Given the description of an element on the screen output the (x, y) to click on. 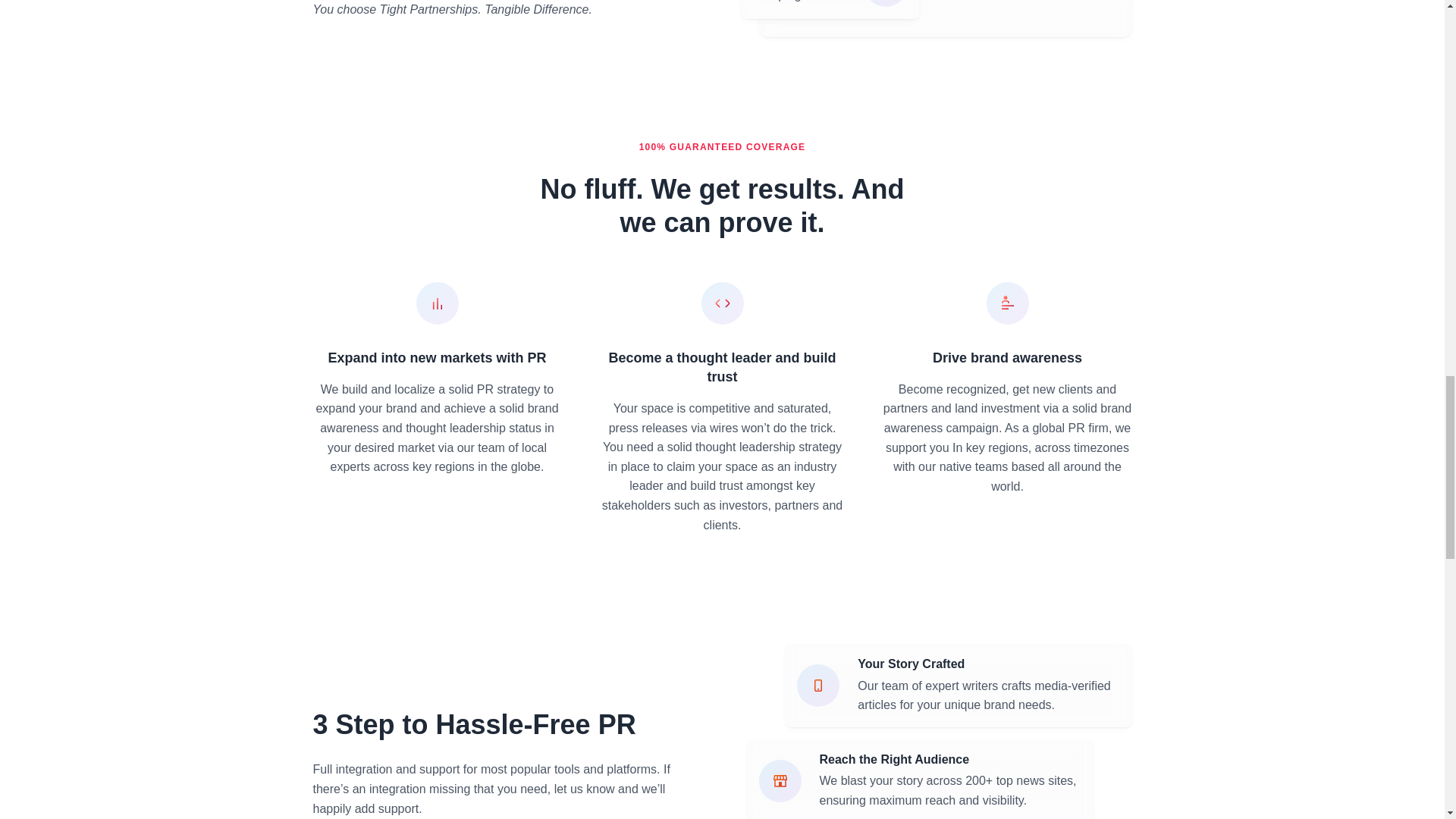
check icon (885, 3)
chart bar icon (436, 302)
code icon (721, 302)
store icon (779, 781)
mobile icon (818, 685)
post author icon (1006, 302)
